Given the description of an element on the screen output the (x, y) to click on. 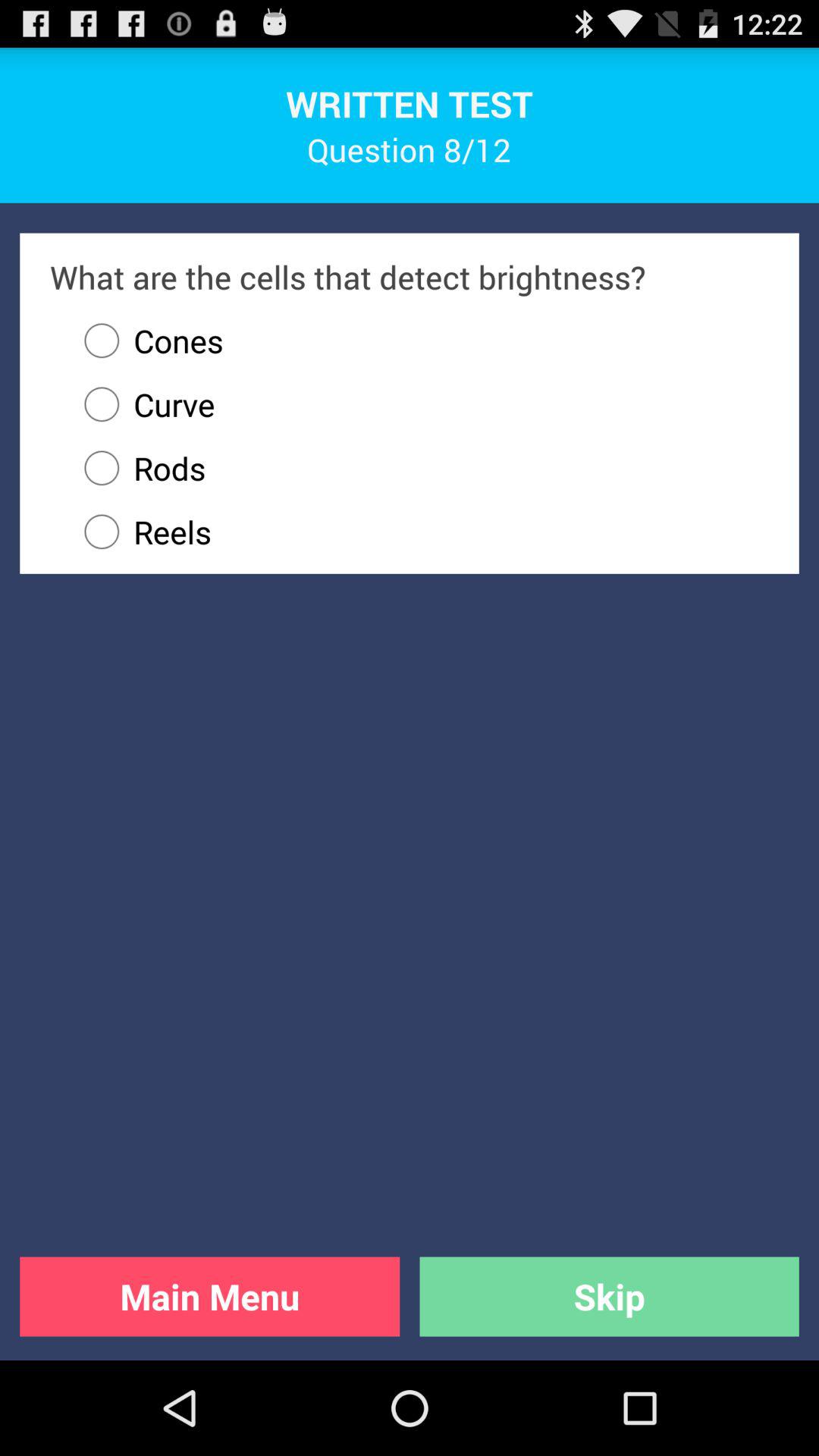
click app below the what are the icon (146, 340)
